Given the description of an element on the screen output the (x, y) to click on. 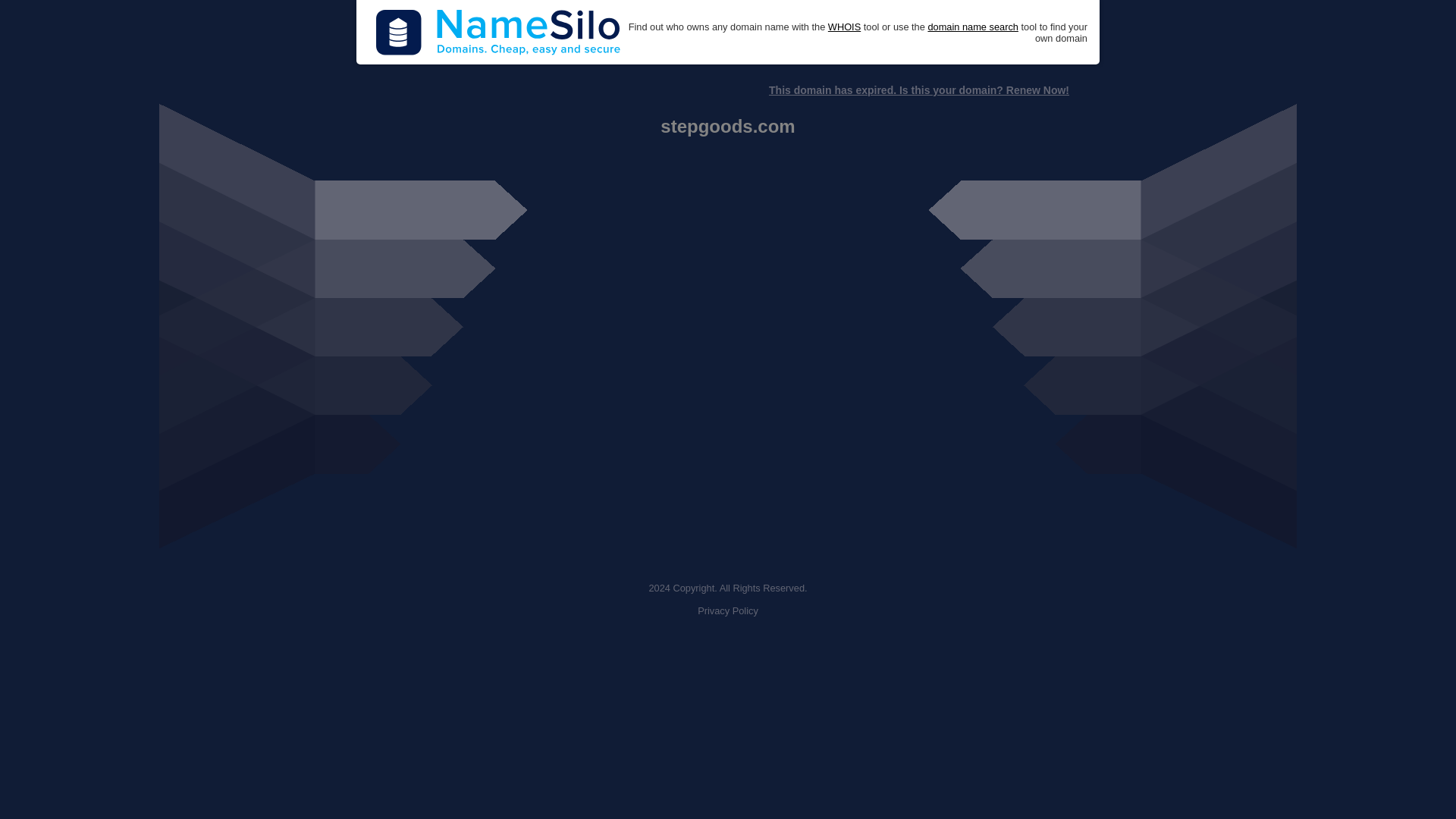
WHOIS (844, 26)
domain name search (972, 26)
This domain has expired. Is this your domain? Renew Now! (918, 90)
Privacy Policy (727, 610)
